Given the description of an element on the screen output the (x, y) to click on. 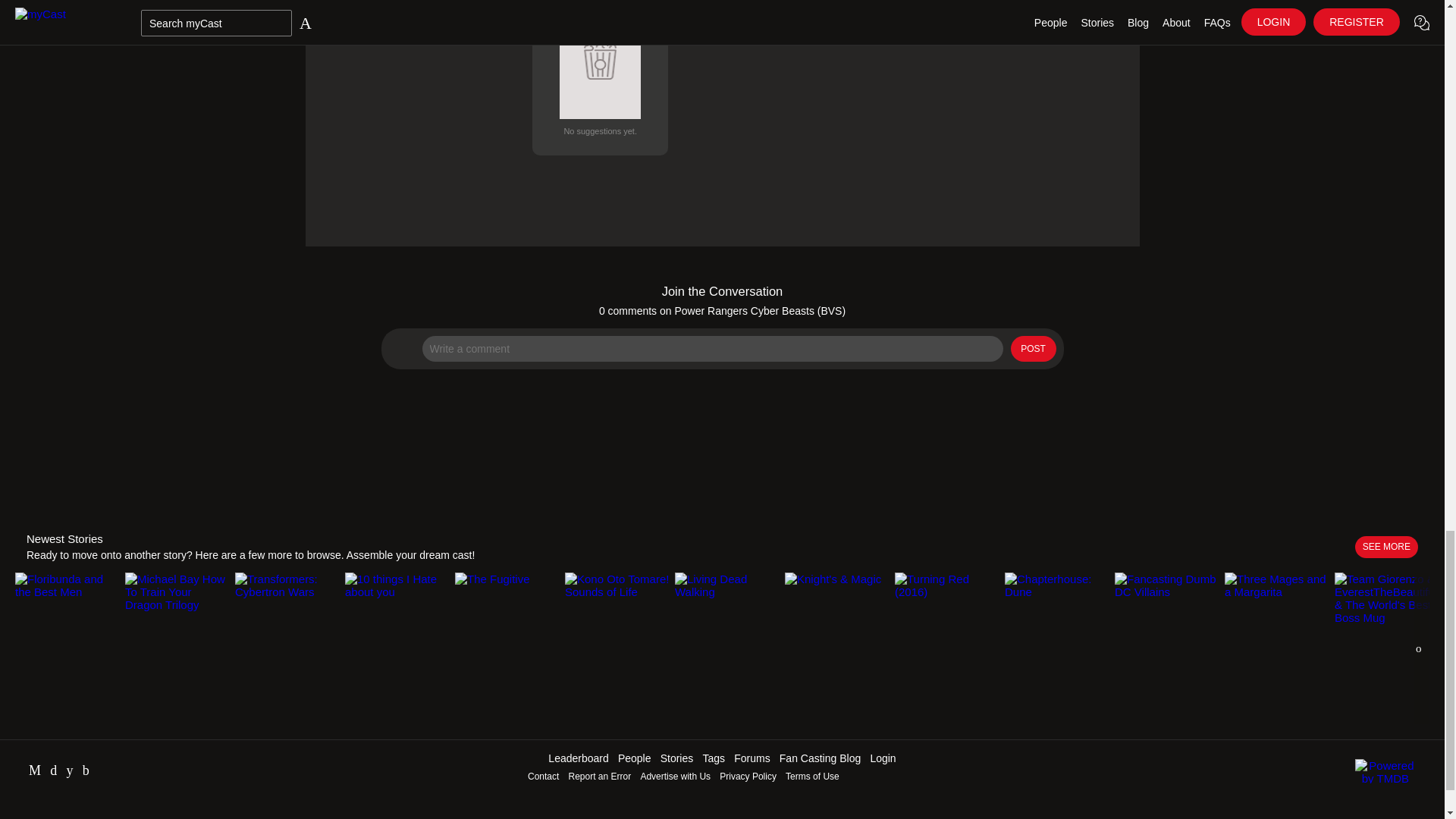
Choreographer (600, 77)
